Given the description of an element on the screen output the (x, y) to click on. 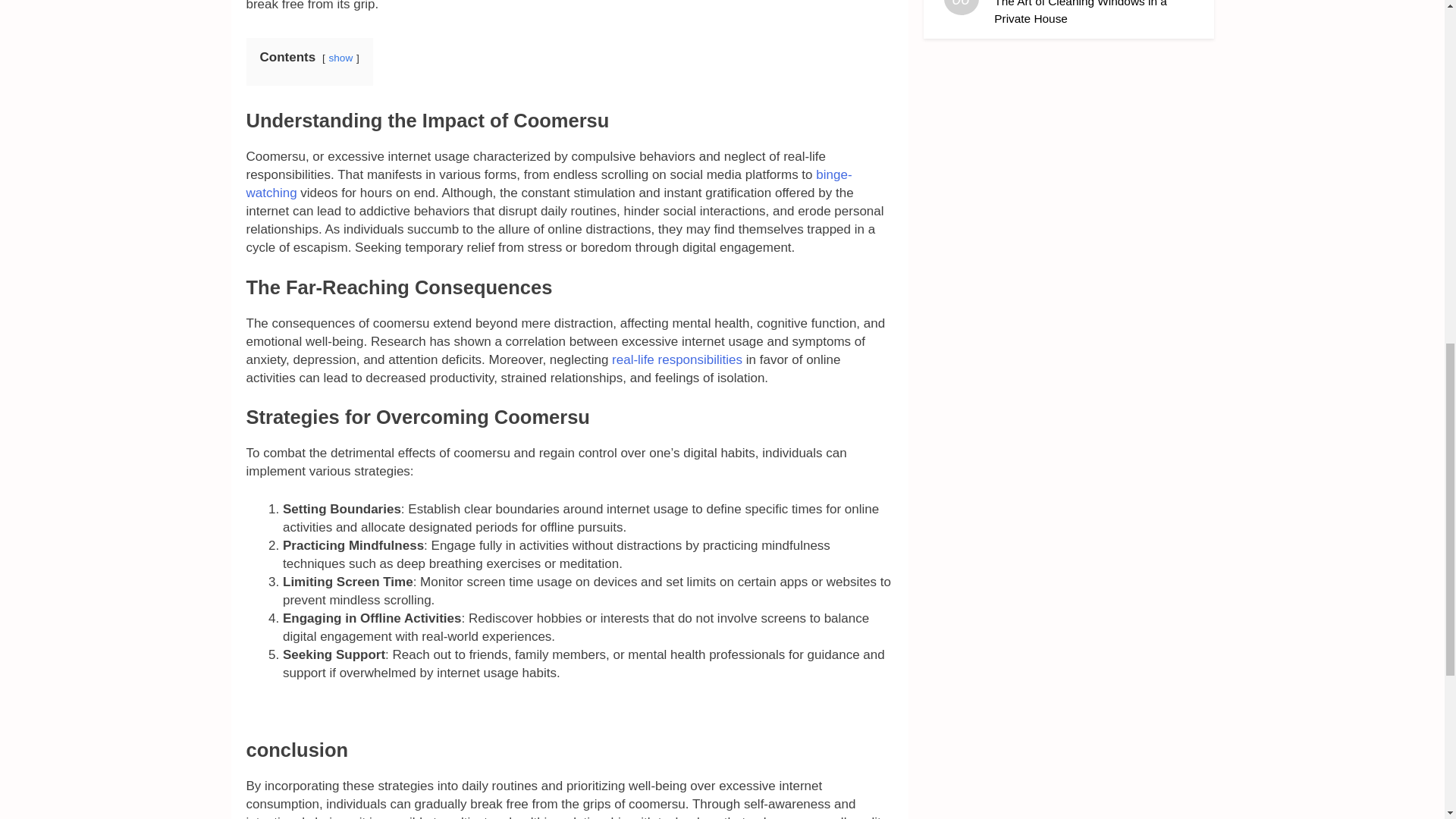
real-life responsibilities (675, 359)
show (340, 57)
binge-watching (548, 183)
